Given the description of an element on the screen output the (x, y) to click on. 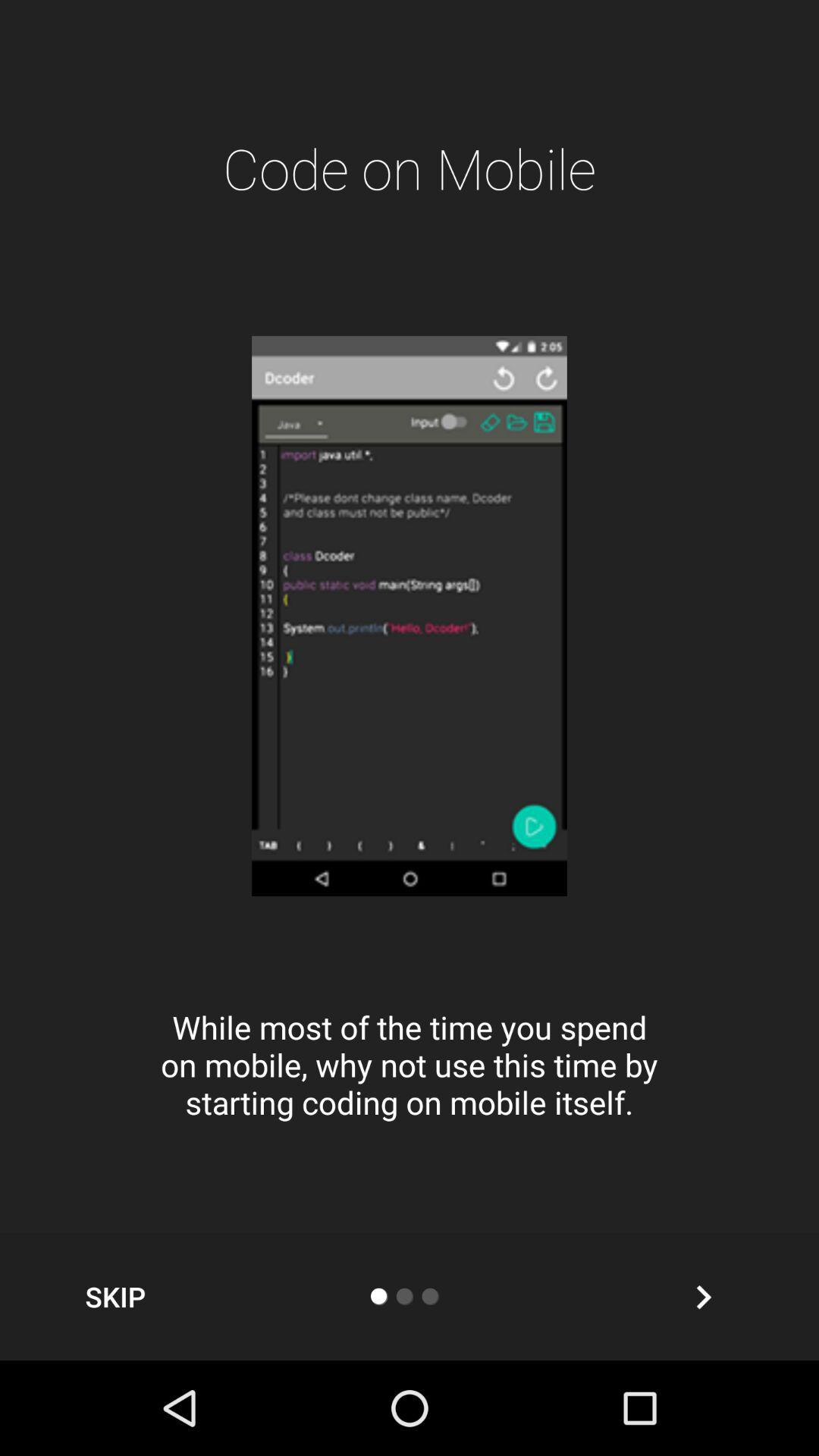
choose icon at the bottom right corner (703, 1296)
